Given the description of an element on the screen output the (x, y) to click on. 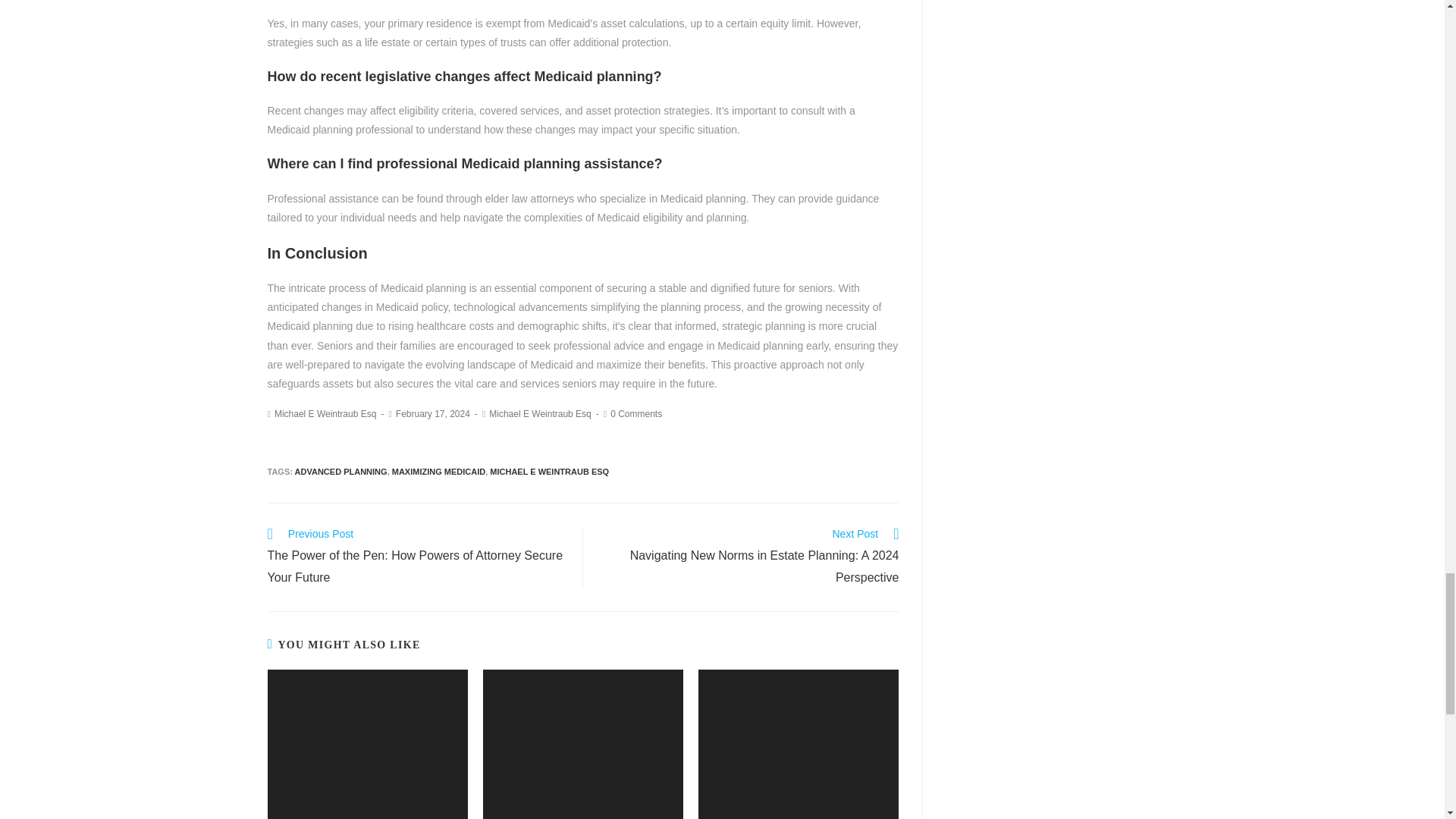
MAXIMIZING MEDICAID (437, 470)
Michael E Weintraub Esq (326, 413)
Posts by Michael E Weintraub Esq (326, 413)
MICHAEL E WEINTRAUB ESQ (548, 470)
Michael E Weintraub Esq (540, 413)
ADVANCED PLANNING (341, 470)
0 Comments (636, 413)
